Given the description of an element on the screen output the (x, y) to click on. 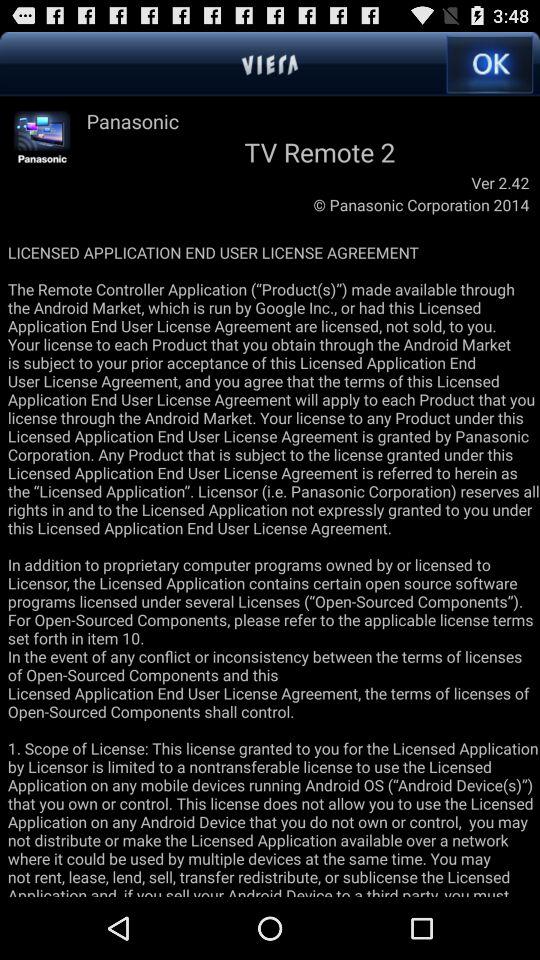
open the item above licensed application end (41, 138)
